Given the description of an element on the screen output the (x, y) to click on. 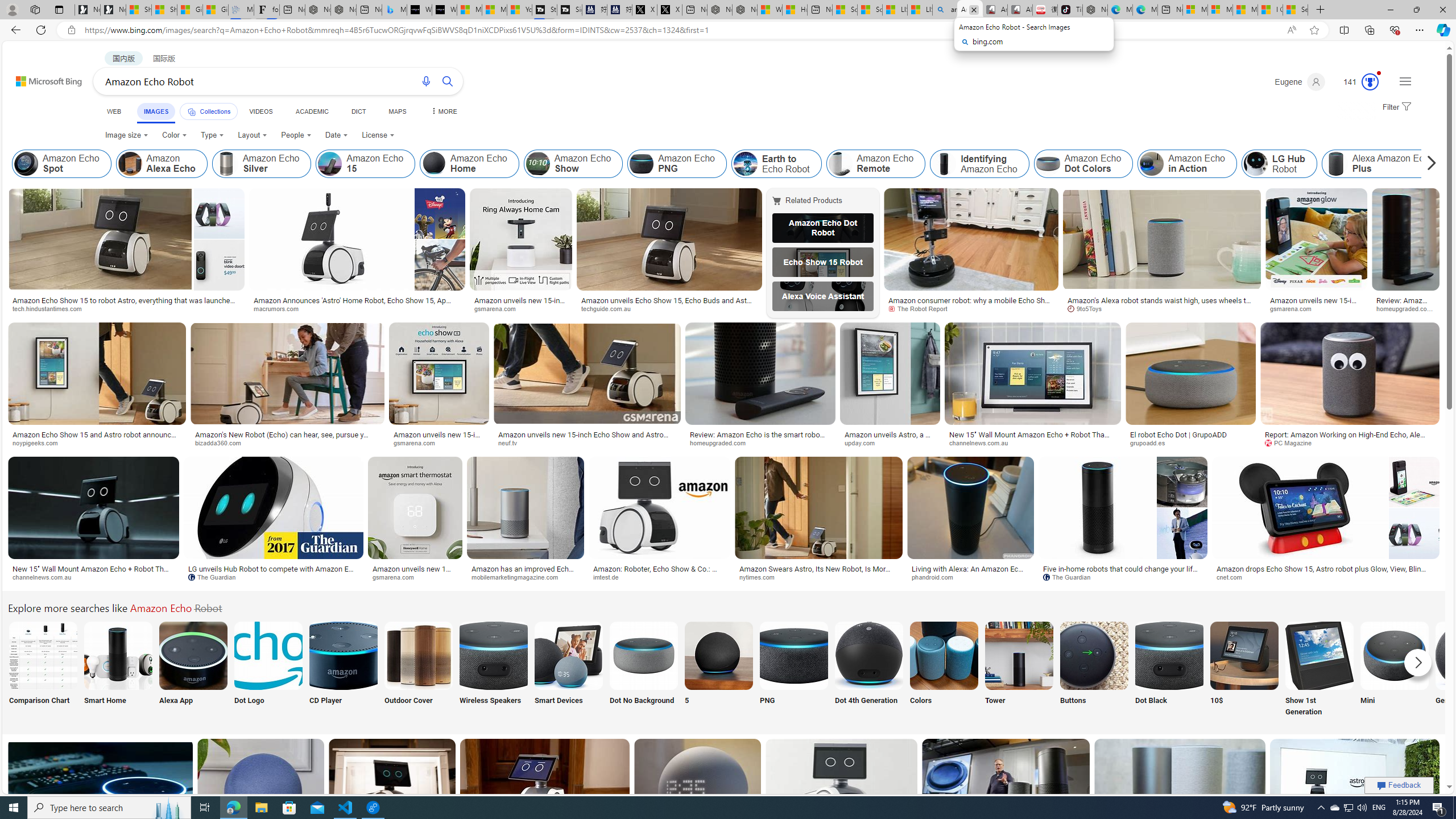
All Cubot phones (1019, 9)
macrumors.com (280, 308)
Smart Home (118, 669)
Identifying Amazon Echo (943, 163)
WEB (114, 111)
Type (212, 135)
Image size (126, 135)
Amazon Echo Show (537, 163)
